Given the description of an element on the screen output the (x, y) to click on. 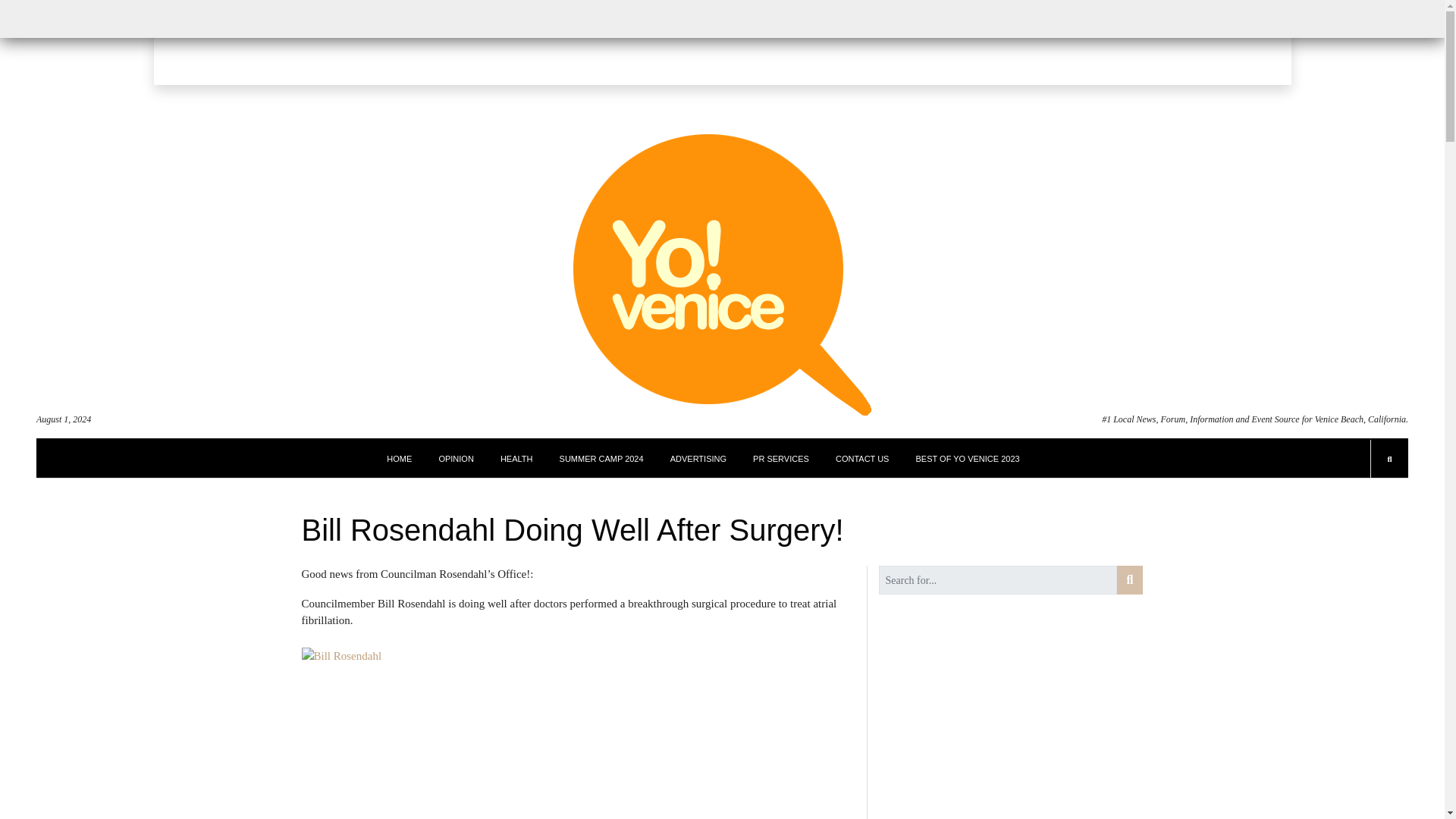
CONTACT US (862, 458)
PR SERVICES (780, 458)
Bill Rosendahl by www.YoVenice.com, on Flickr (578, 733)
OPINION (455, 458)
BEST OF YO VENICE 2023 (967, 458)
SUMMER CAMP 2024 (601, 458)
ADVERTISING (697, 458)
